Given the description of an element on the screen output the (x, y) to click on. 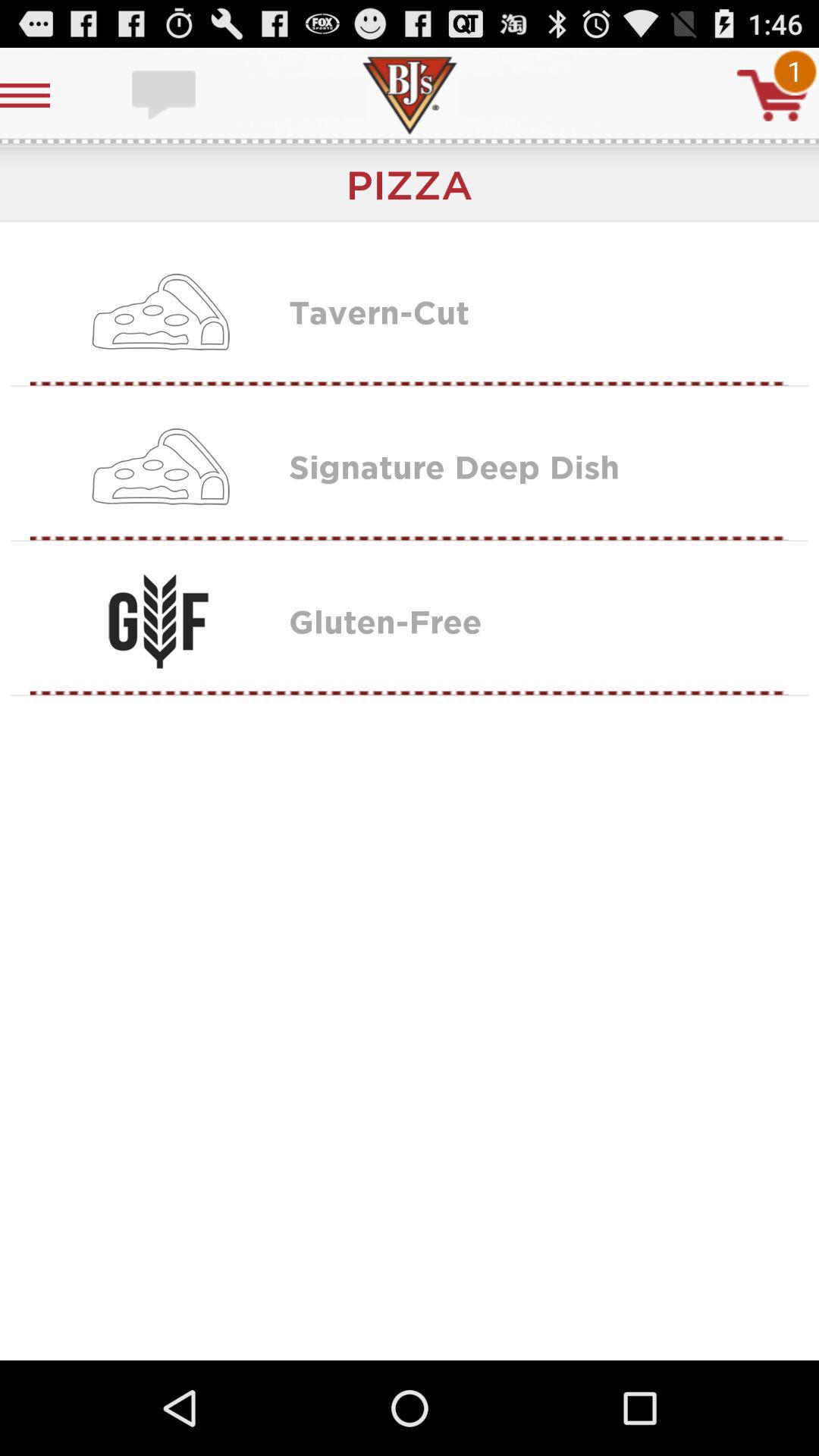
cart option (772, 95)
